Given the description of an element on the screen output the (x, y) to click on. 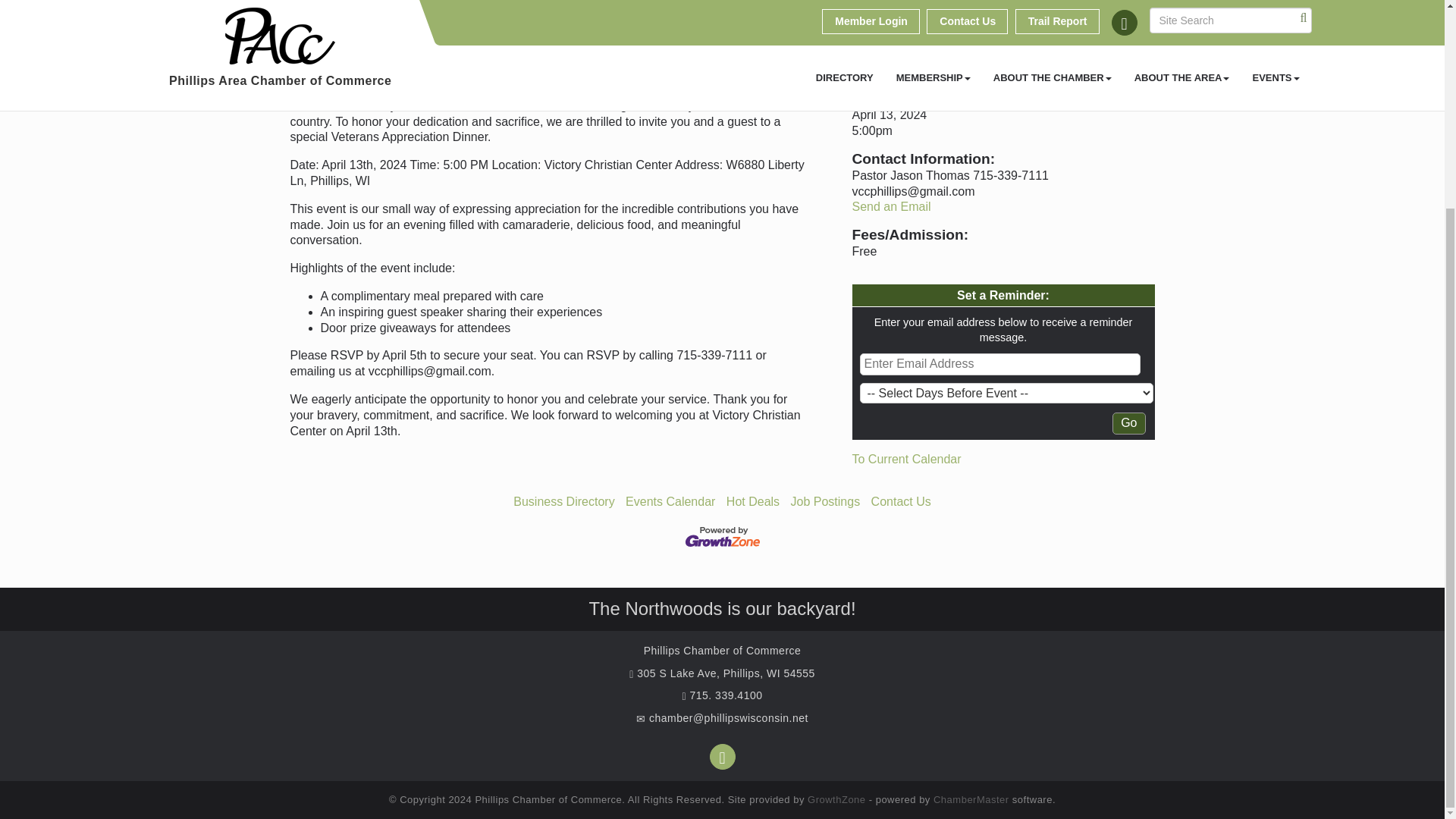
Icon Link (722, 756)
Go (1128, 423)
Enter Email Address (1000, 363)
